Given the description of an element on the screen output the (x, y) to click on. 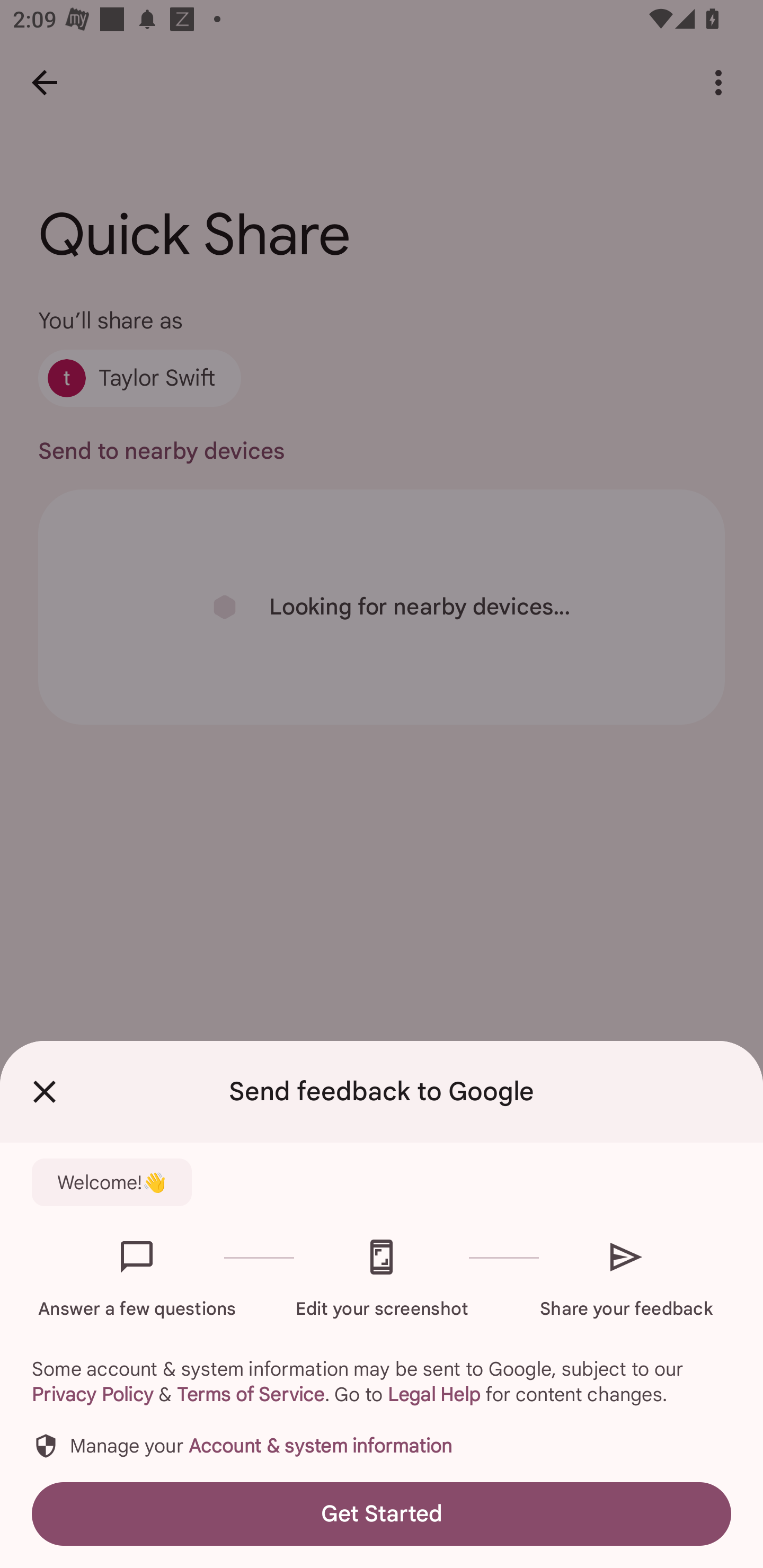
Close Feedback (44, 1091)
Get Started (381, 1513)
